Given the description of an element on the screen output the (x, y) to click on. 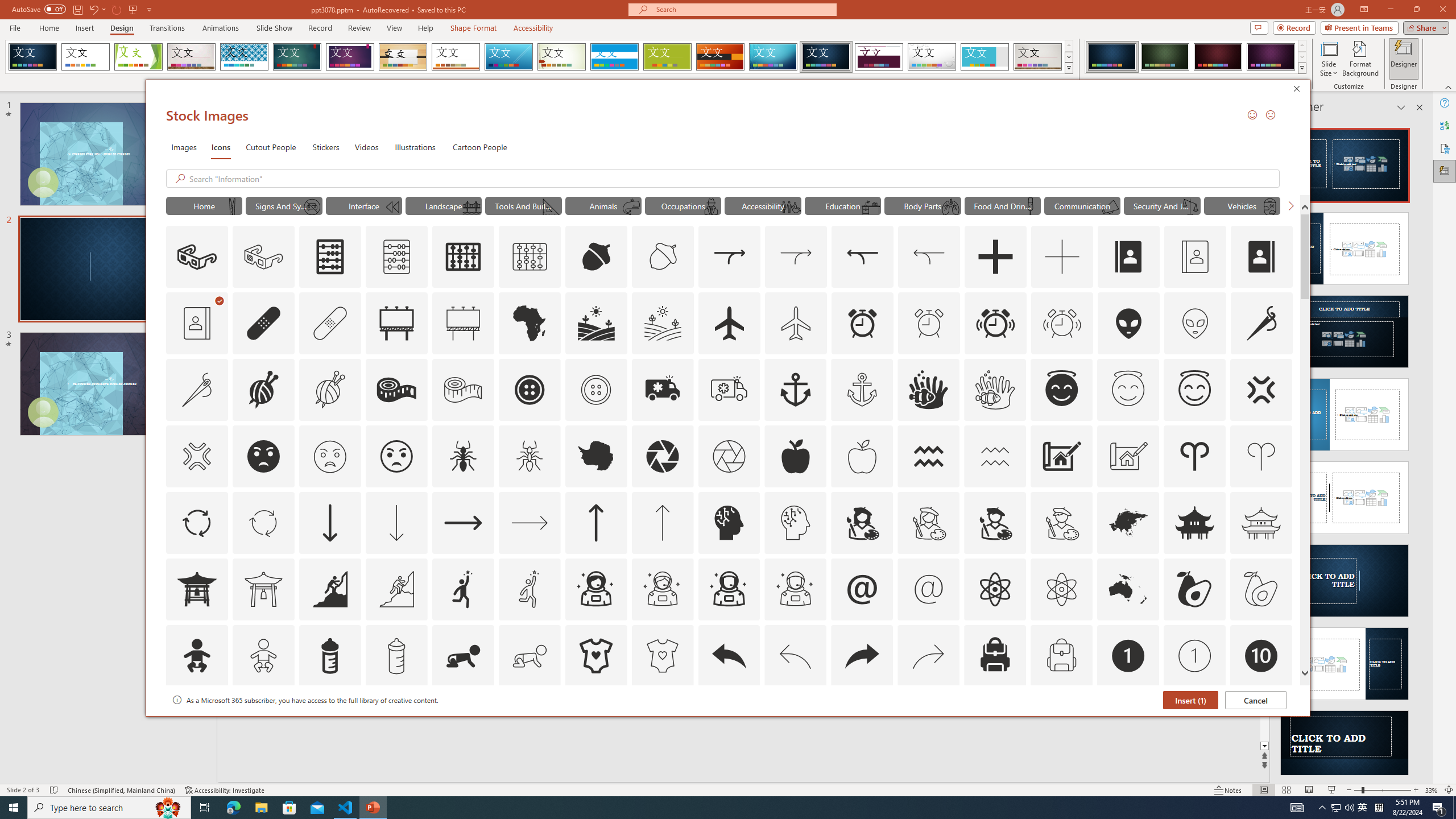
AutomationID: Icons_AddressBook_RTL_M (197, 323)
Ion (296, 56)
Organic (403, 56)
"Occupations" Icons. (682, 205)
AutomationID: Icons_Badge5_M (729, 721)
AutomationID: Icons_BridgeScene_M (471, 206)
AutomationID: Icons_Badge5 (662, 721)
AutomationID: Icons_BabyCrawling (462, 655)
AutomationID: Icons_Aspiration1_M (529, 588)
